Given the description of an element on the screen output the (x, y) to click on. 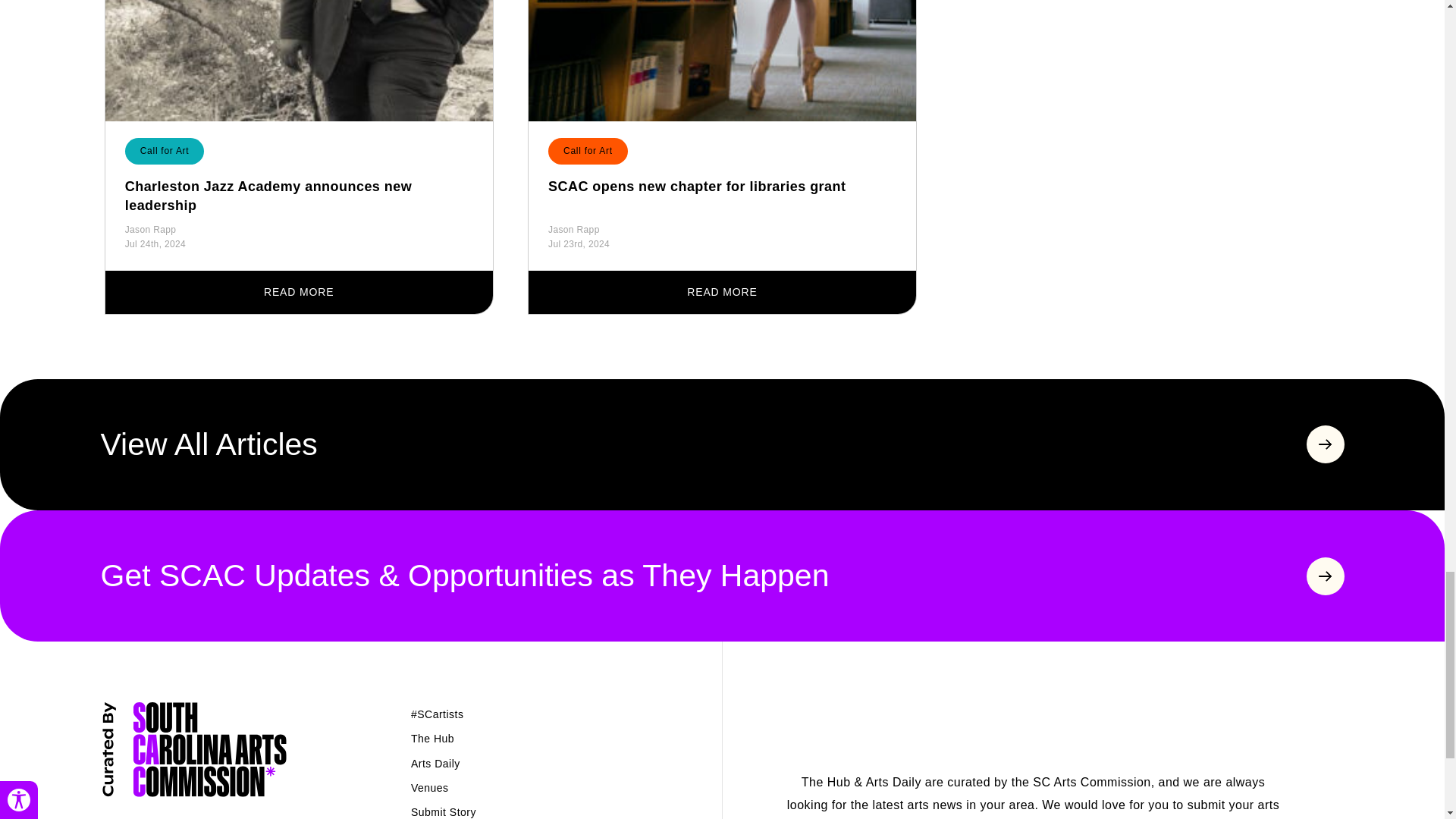
View All Articles (721, 445)
Arts Daily (435, 763)
Venues (429, 787)
The Hub (432, 738)
Submit Story (443, 811)
